Given the description of an element on the screen output the (x, y) to click on. 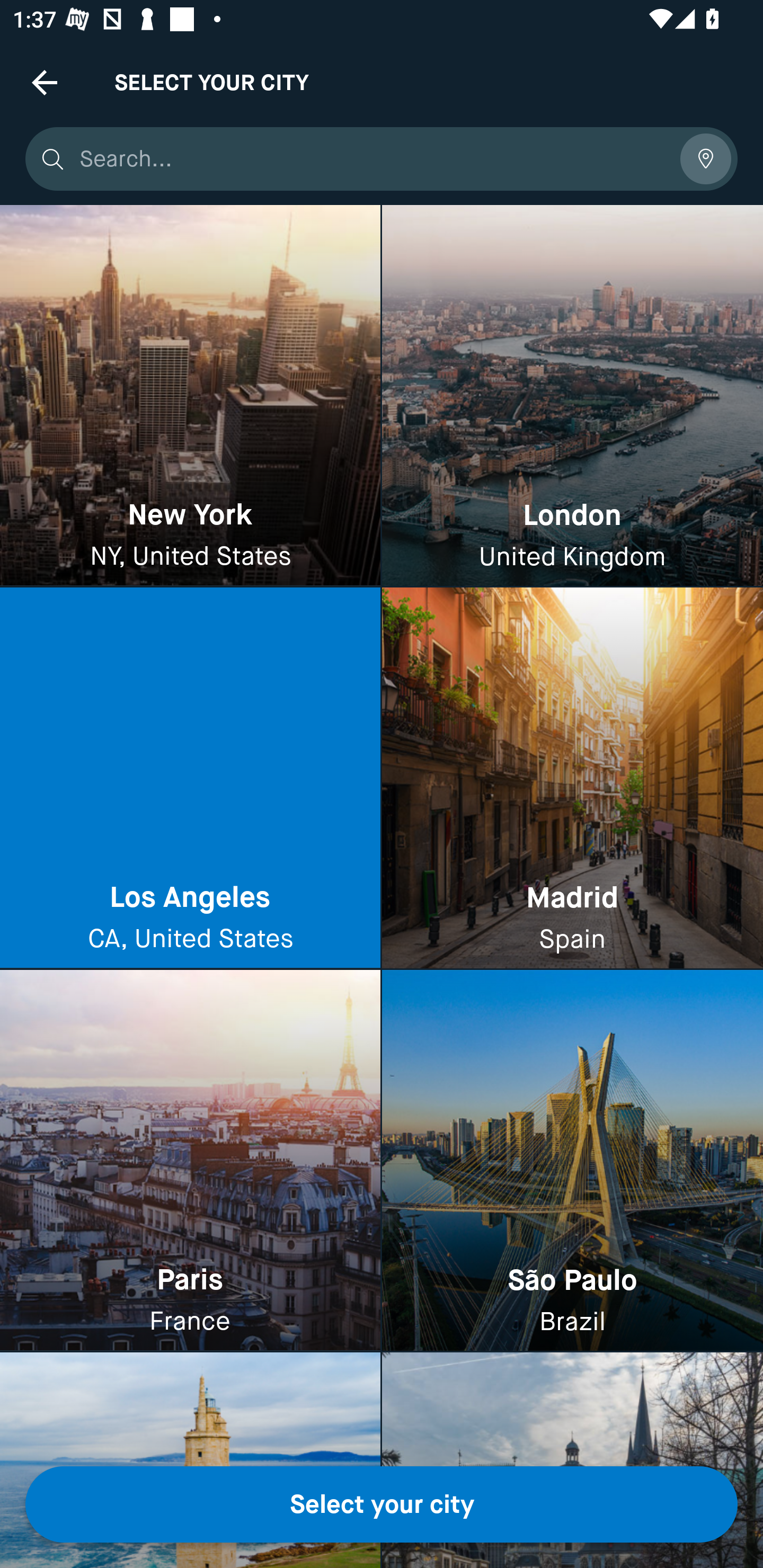
Navigate up (44, 82)
Search... (373, 159)
New York NY, United States (190, 395)
London United Kingdom (572, 395)
Los Angeles CA, United States (190, 778)
Madrid Spain (572, 778)
Paris France (190, 1160)
São Paulo Brazil (572, 1160)
Select your city (381, 1504)
